Given the description of an element on the screen output the (x, y) to click on. 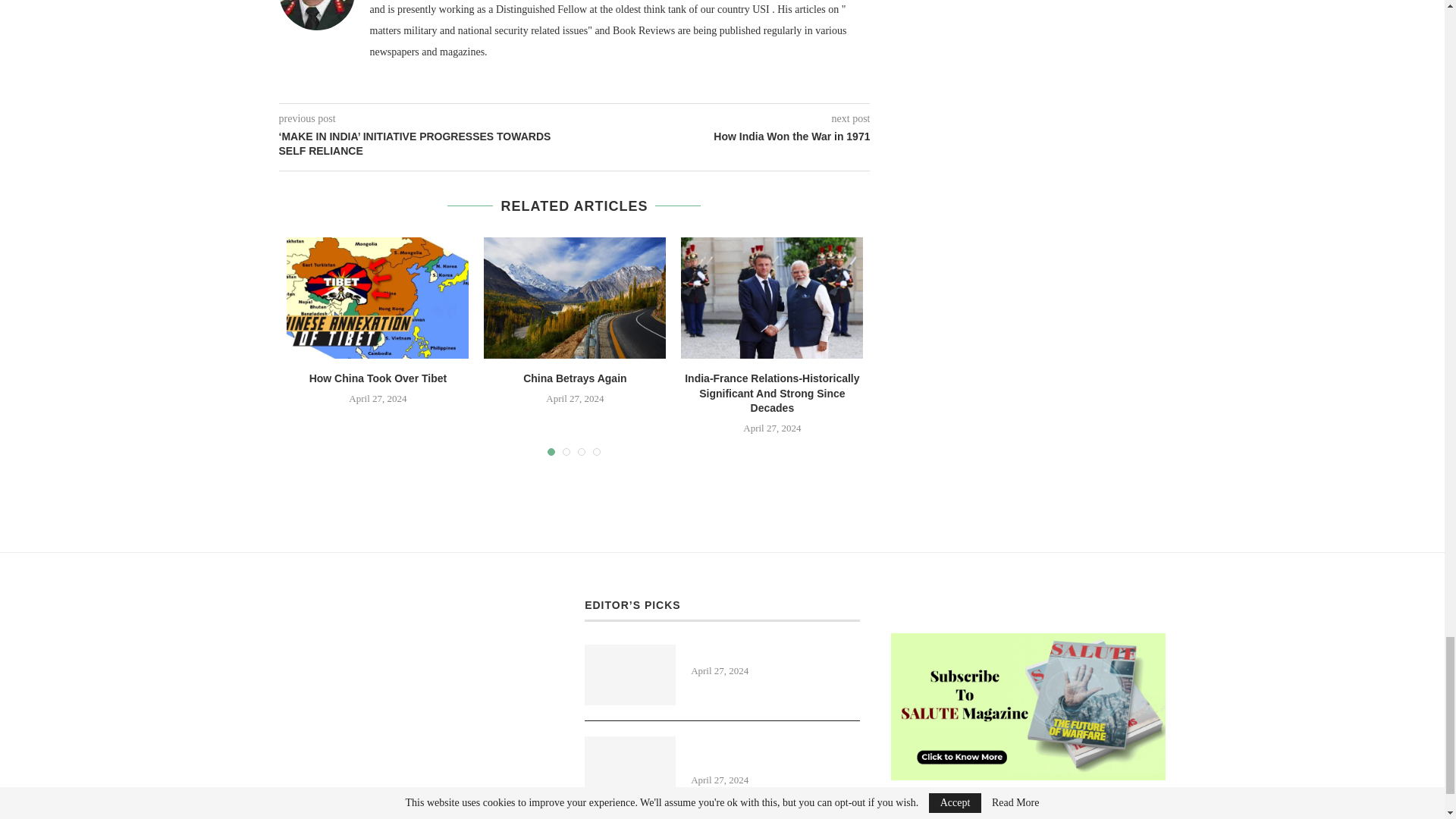
How India Won the War in 1971 (722, 136)
China Betrays Again (574, 378)
China Betrays Again (574, 297)
How China Took Over Tibet (377, 297)
How China Took Over Tibet (377, 378)
